Given the description of an element on the screen output the (x, y) to click on. 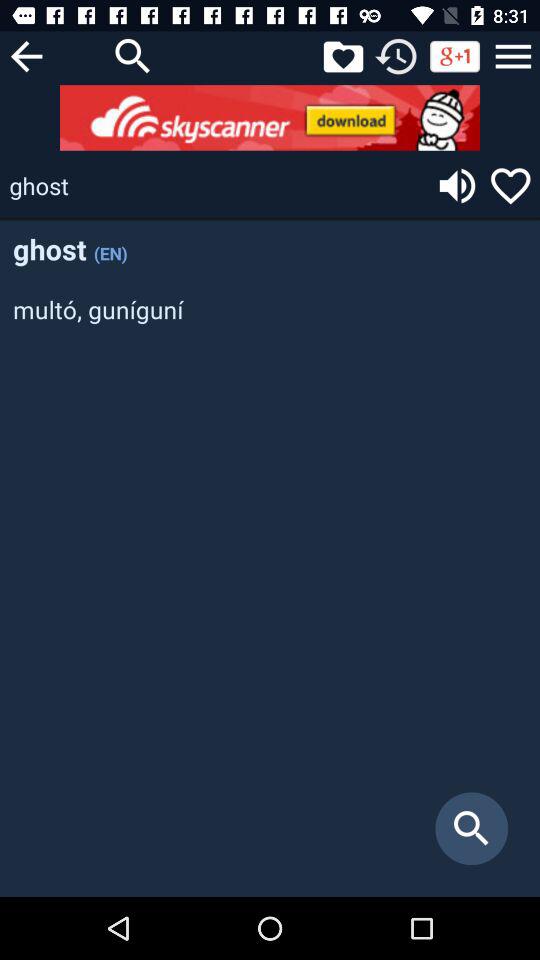
toggle menu (513, 56)
